Given the description of an element on the screen output the (x, y) to click on. 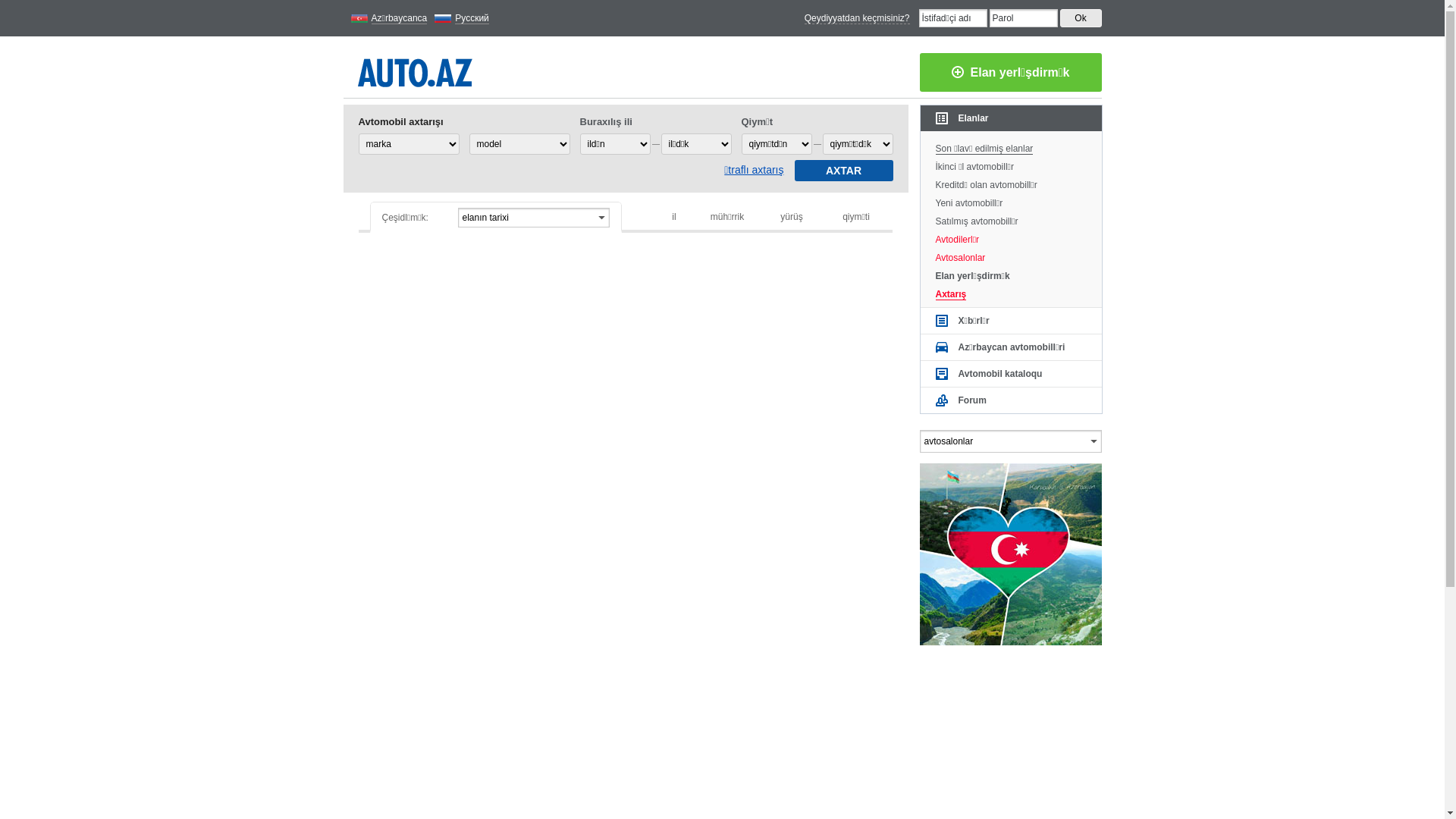
AUTO.AZ Element type: text (414, 70)
Elanlar Element type: text (1010, 118)
Ok Element type: text (1080, 18)
Avtomobil kataloqu Element type: text (1010, 373)
Forum Element type: text (1010, 400)
Avtosalonlar Element type: text (1010, 255)
AXTAR Element type: text (843, 170)
Ok Element type: hover (1080, 18)
